Given the description of an element on the screen output the (x, y) to click on. 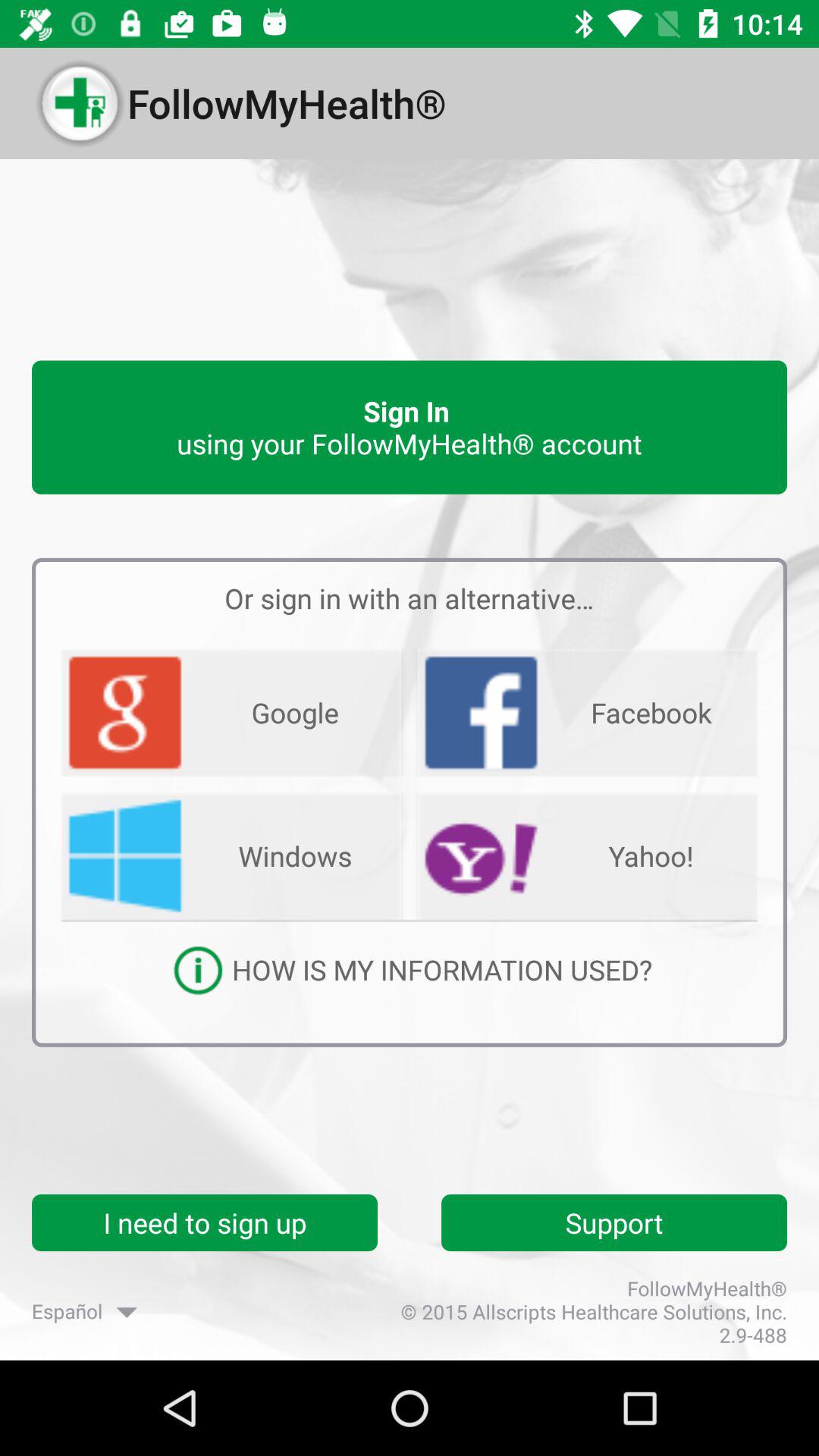
select the text above google icon (409, 597)
